Given the description of an element on the screen output the (x, y) to click on. 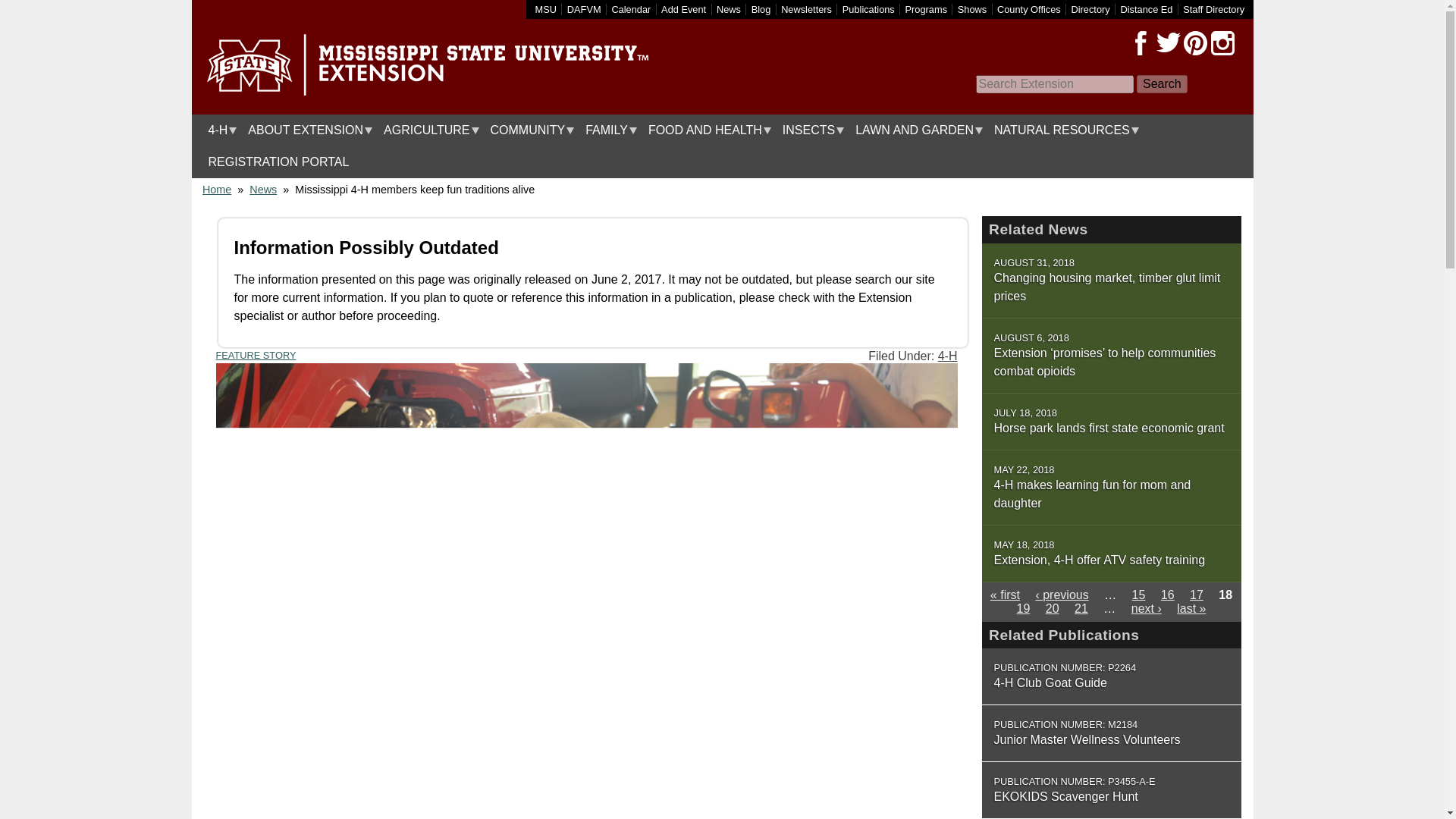
The main event calendar for the MSU Extension Service (630, 9)
Facebook (1140, 43)
Distance Ed (1145, 9)
List of Extension Programs (926, 9)
Twitter (1167, 43)
Search (1162, 84)
Instagram (1221, 43)
Shows (972, 9)
4-H (218, 130)
County Offices (1029, 9)
Blog (761, 9)
DAFVM (584, 9)
Find a county extension office (1029, 9)
